Given the description of an element on the screen output the (x, y) to click on. 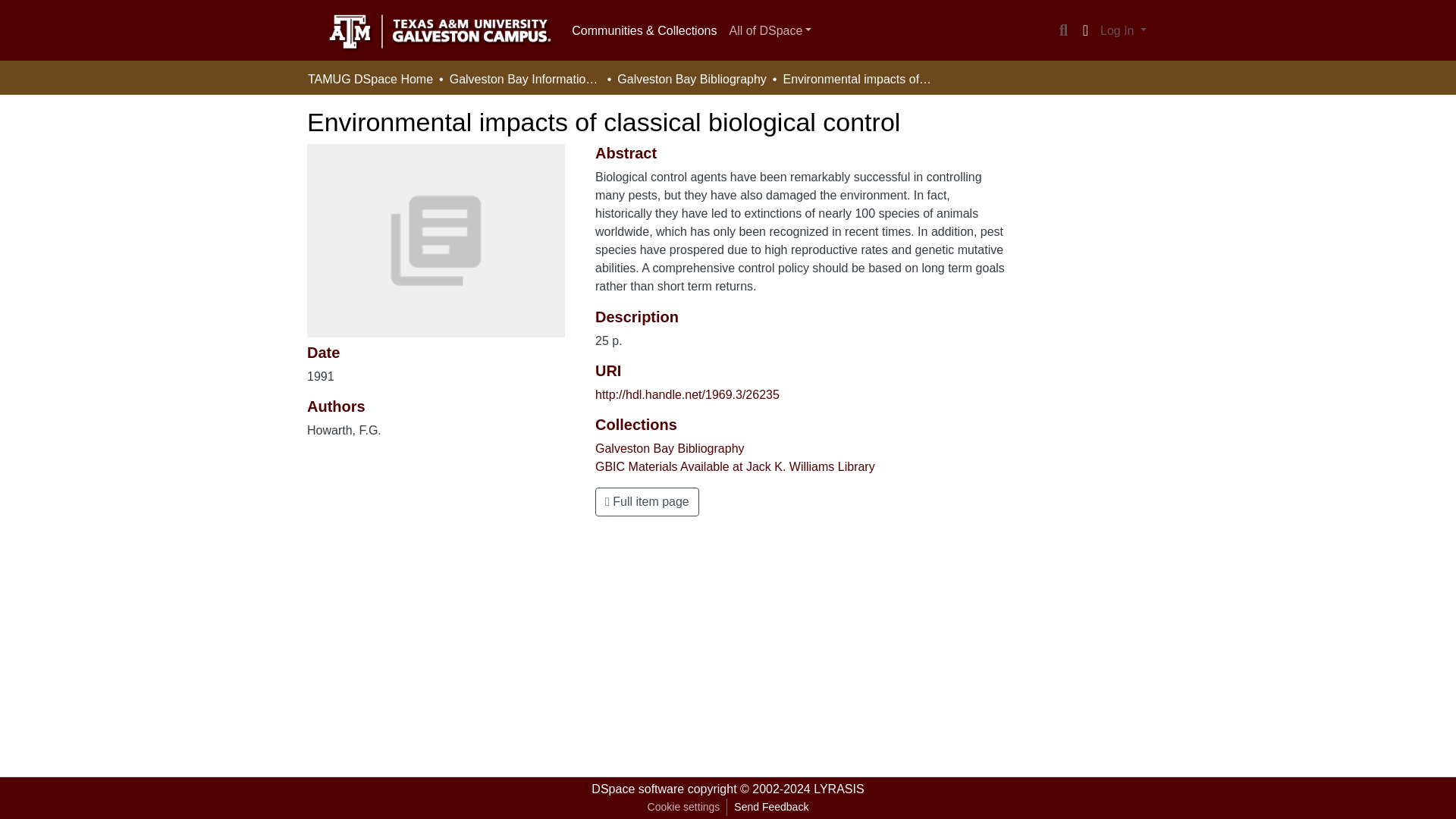
TAMUG DSpace Home (369, 79)
Language switch (1084, 30)
Send Feedback (770, 806)
Galveston Bay Bibliography (692, 79)
Cookie settings (683, 806)
GBIC Materials Available at Jack K. Williams Library (735, 466)
Log In (1122, 30)
Full item page (646, 501)
Search (1063, 30)
All of DSpace (769, 30)
Galveston Bay Information Collection (525, 79)
LYRASIS (838, 788)
DSpace software (637, 788)
Galveston Bay Bibliography (669, 448)
